Given the description of an element on the screen output the (x, y) to click on. 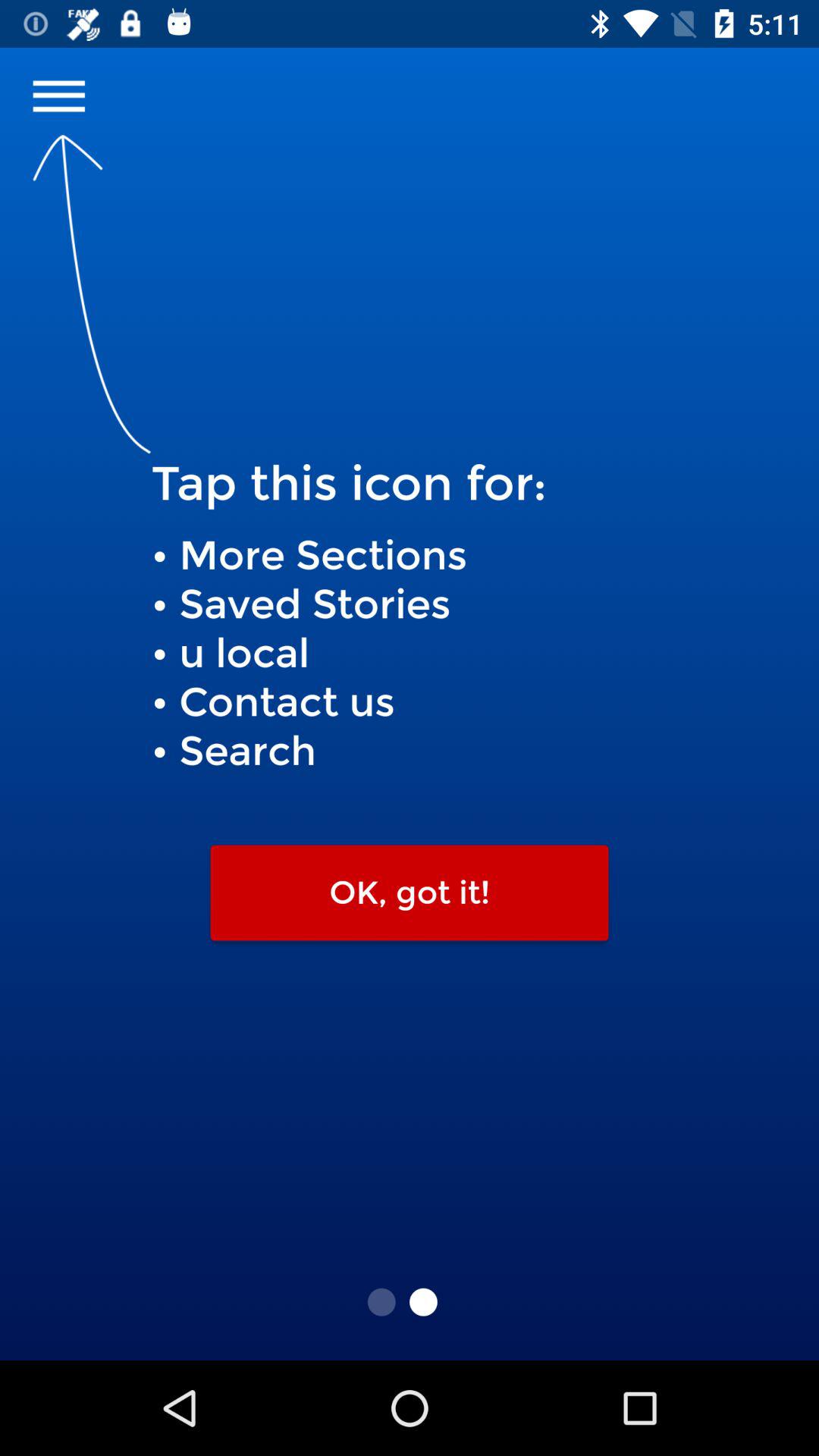
turn off icon below more sections saved icon (409, 892)
